Given the description of an element on the screen output the (x, y) to click on. 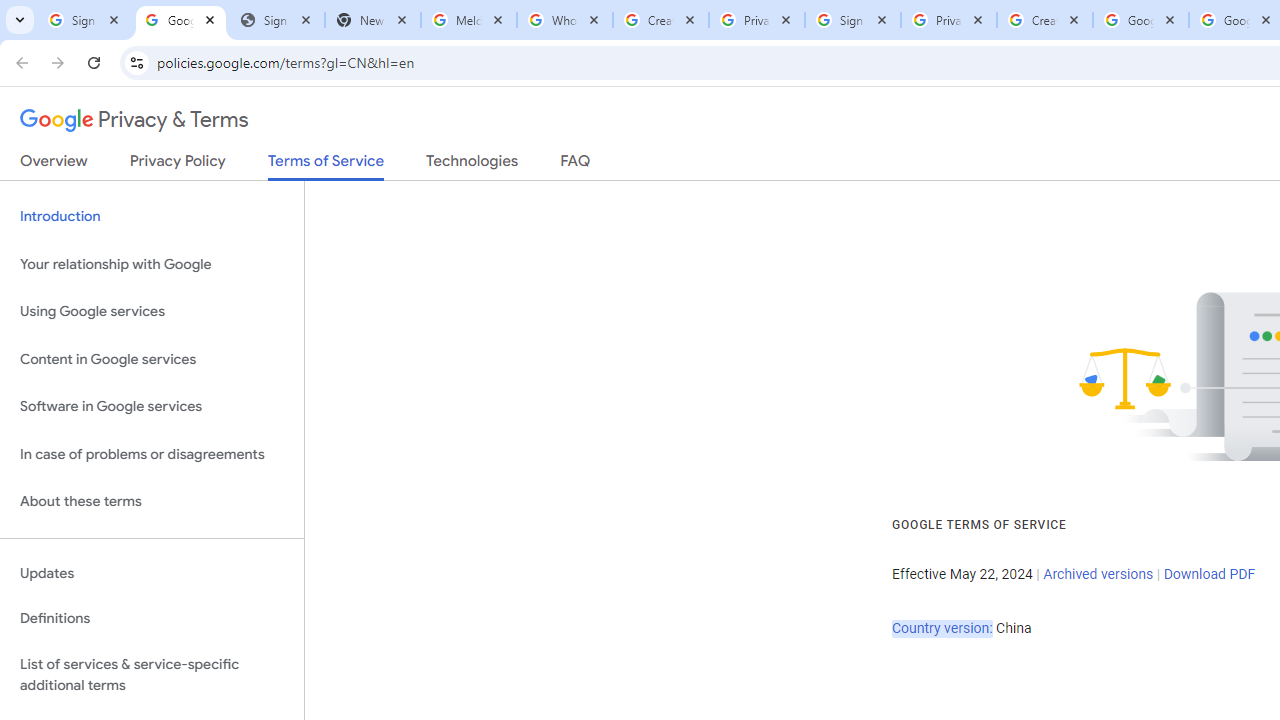
Archived versions (1098, 574)
Sign in - Google Accounts (853, 20)
Country version: (942, 628)
FAQ (575, 165)
Overview (54, 165)
List of services & service-specific additional terms (152, 674)
Introduction (152, 216)
Using Google services (152, 312)
Sign in - Google Accounts (85, 20)
Privacy Policy (177, 165)
Software in Google services (152, 407)
